Given the description of an element on the screen output the (x, y) to click on. 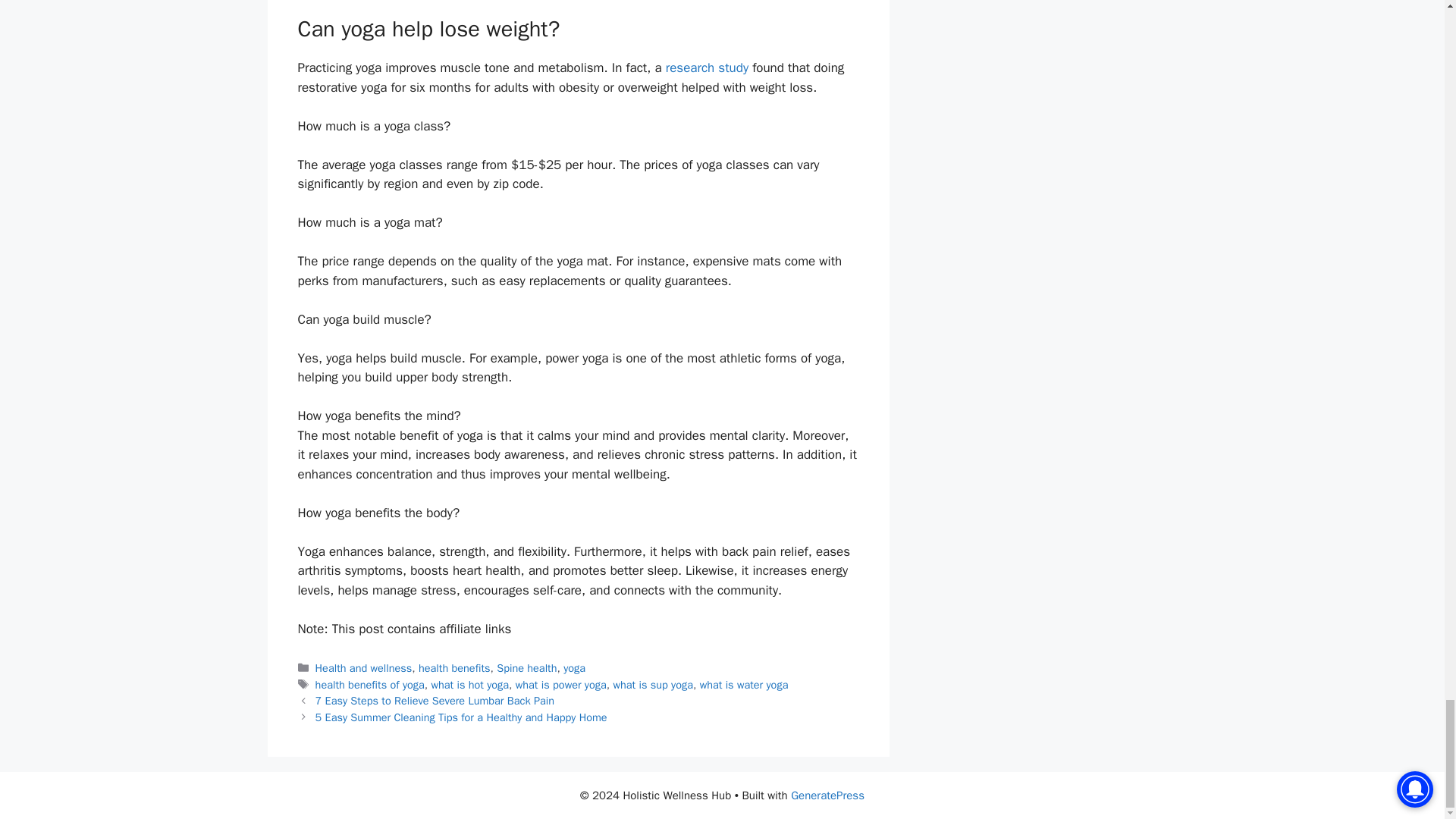
what is power yoga (561, 684)
5 Easy Summer Cleaning Tips for a Healthy and Happy Home (461, 716)
Health and wellness (363, 667)
7 Easy Steps to Relieve Severe Lumbar Back Pain (434, 700)
Spine health (526, 667)
health benefits of yoga (370, 684)
what is water yoga (744, 684)
research study (706, 67)
what is hot yoga (469, 684)
yoga (574, 667)
health benefits (454, 667)
what is sup yoga (652, 684)
GeneratePress (827, 795)
